Given the description of an element on the screen output the (x, y) to click on. 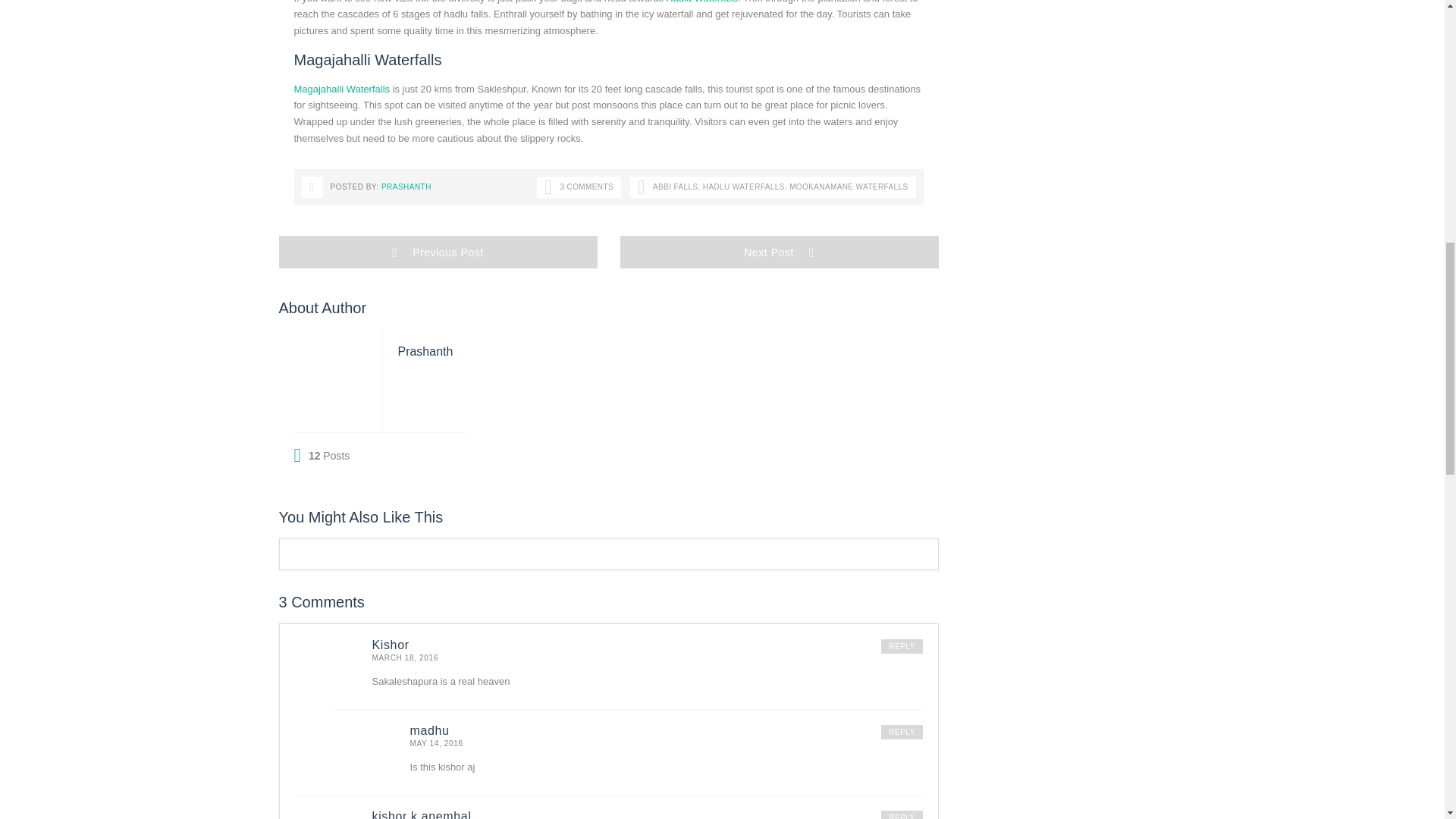
Posts by Prashanth (424, 350)
Magajahalli Waterfalls (342, 89)
3 COMMENTS (579, 187)
Posts by Prashanth (405, 186)
Hadlu Waterfalls (701, 2)
PRASHANTH (405, 186)
